Given the description of an element on the screen output the (x, y) to click on. 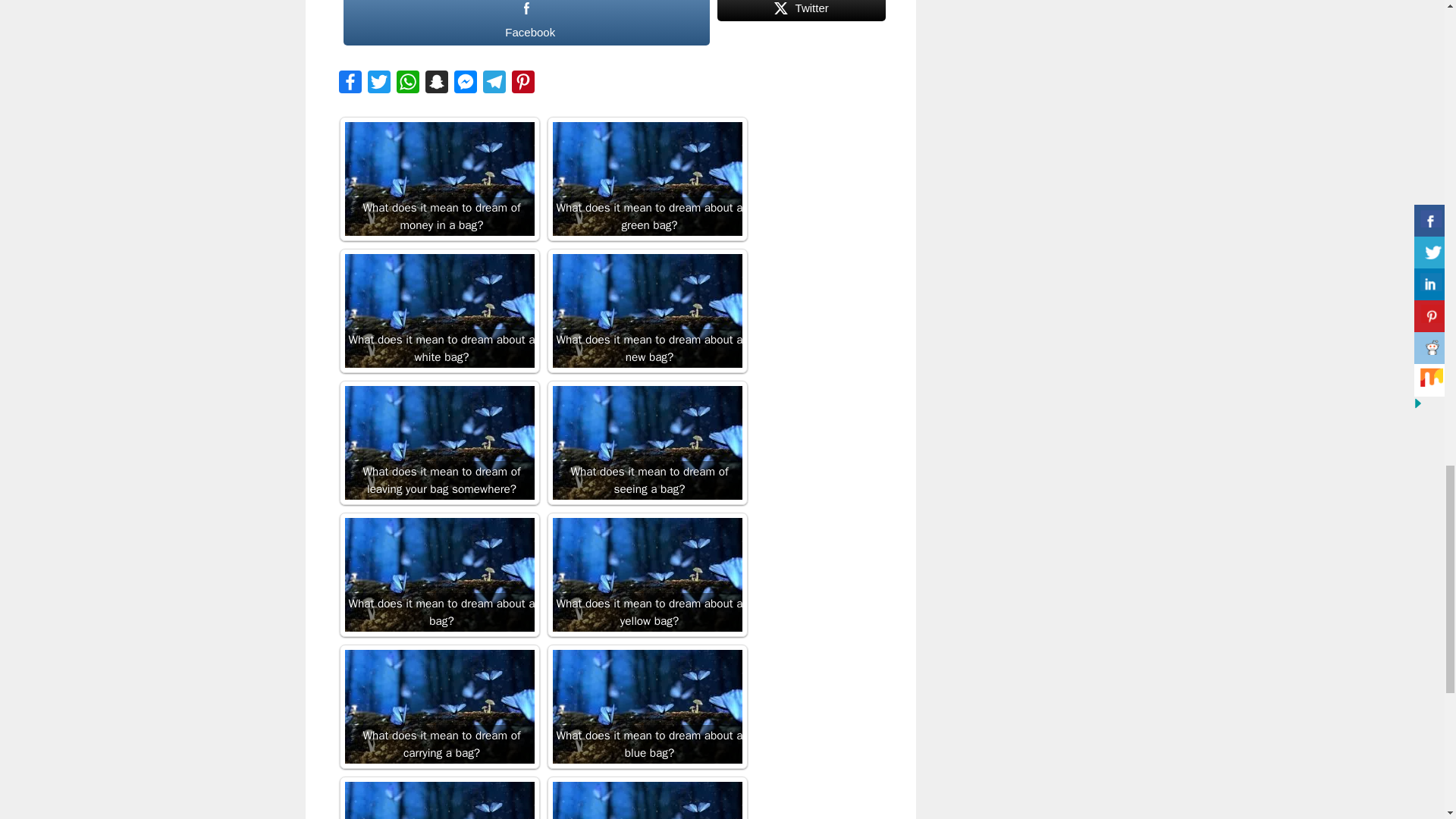
Snapchat (435, 85)
What does it mean to dream about a yellow bag? (646, 574)
WhatsApp (407, 85)
What does it mean to dream of throwing away a bag? (646, 800)
Twitter (378, 85)
Messenger (464, 85)
Pinterest (522, 85)
What does it mean to dream about a new bag? (646, 310)
What does it mean to dream of seeing a bag? (646, 442)
What does it mean to dream about a green bag? (646, 178)
What does it mean to dream about a bag? (438, 574)
What does it mean to dream about an old bag? (438, 800)
Twitter (801, 23)
What does it mean to dream of money in a bag? (438, 178)
Facebook (349, 85)
